Given the description of an element on the screen output the (x, y) to click on. 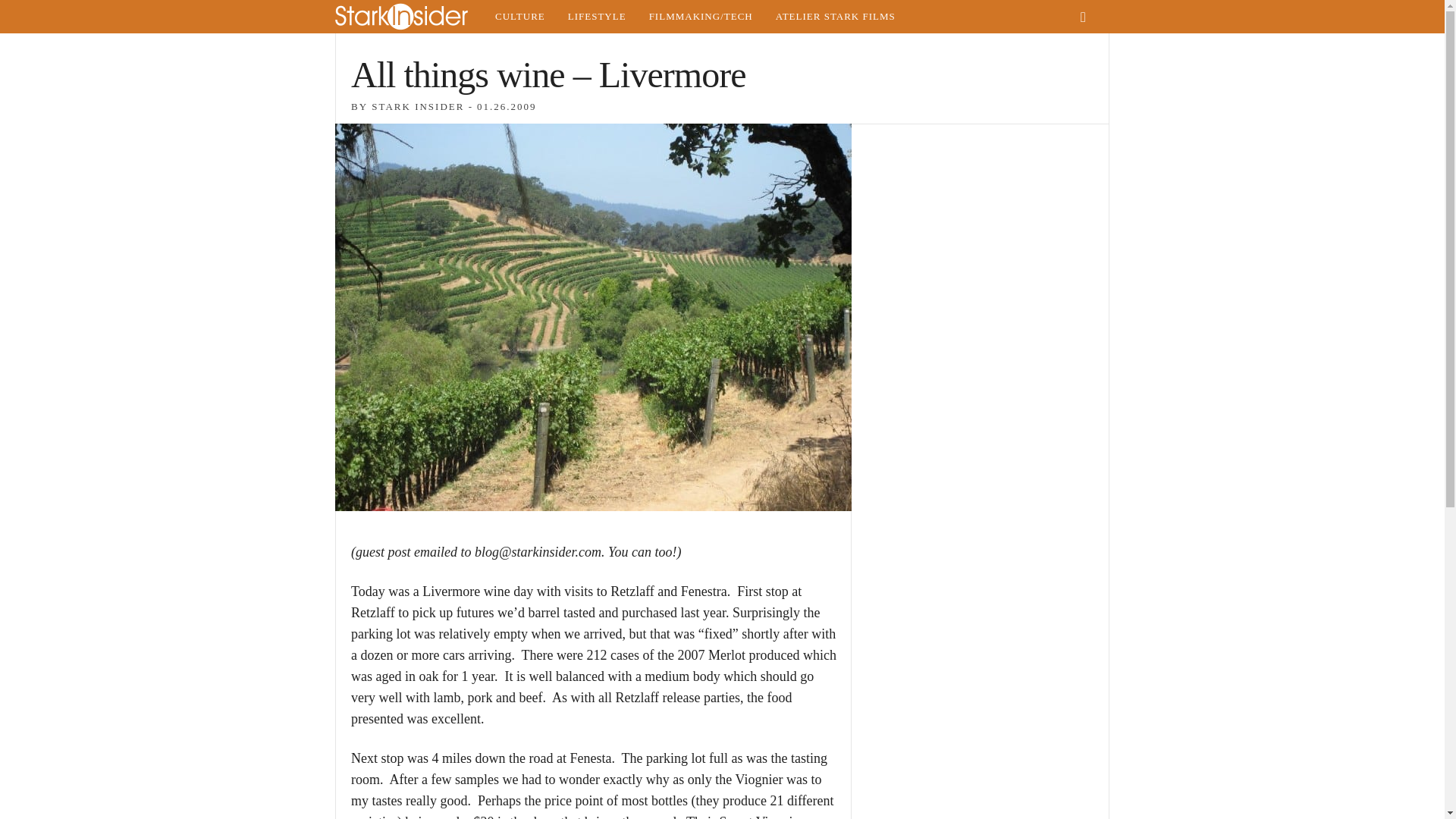
LIFESTYLE (596, 16)
Tech, gadgets, camera news and reviews from Silicon Valley (700, 16)
Stark Insider (408, 16)
STARK INSIDER (417, 106)
ATELIER STARK FILMS (835, 16)
CULTURE (519, 16)
Indie film, music, arts in San Francisco and Silicon Valley (519, 16)
